Given the description of an element on the screen output the (x, y) to click on. 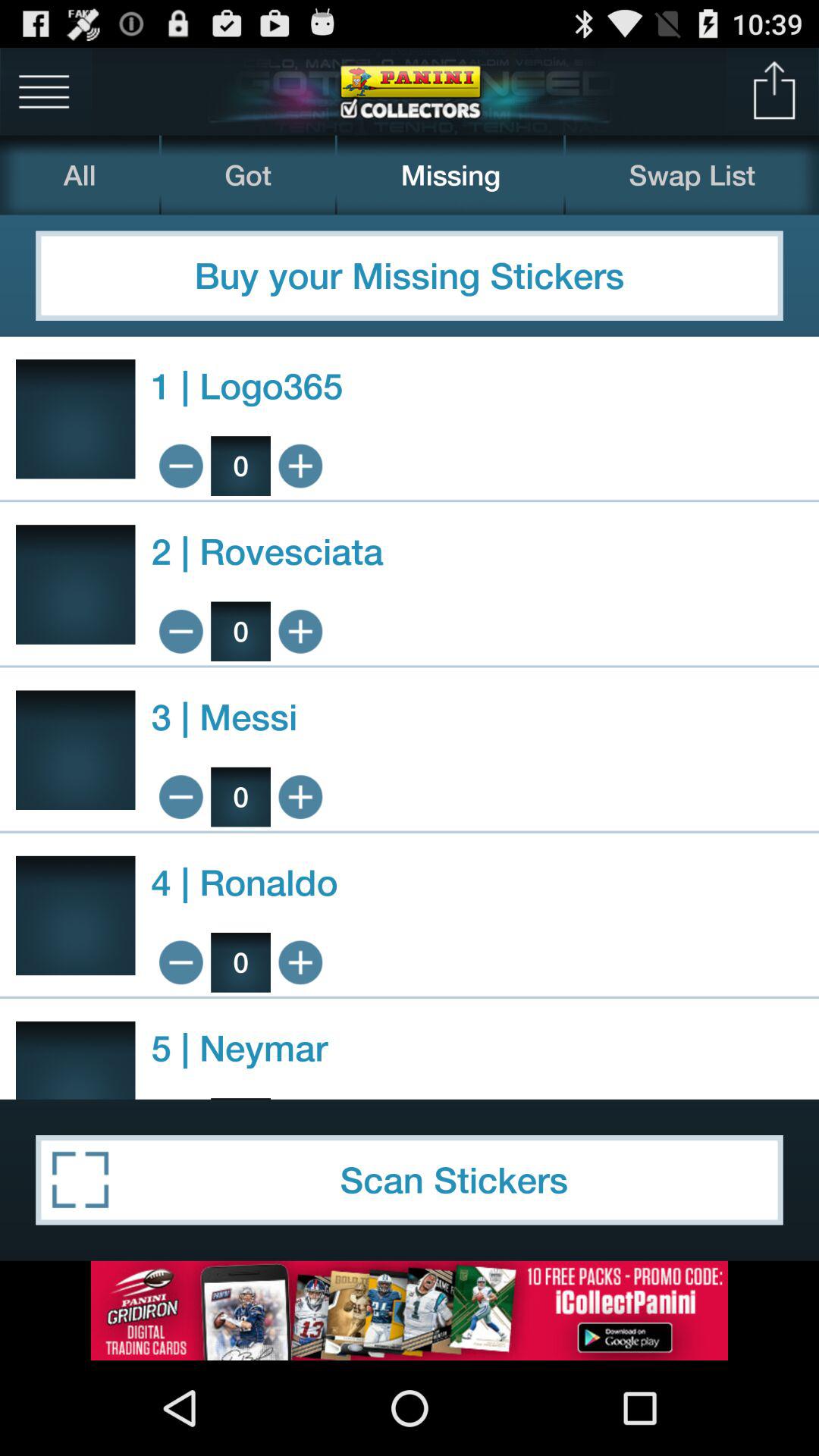
share app (774, 91)
